Given the description of an element on the screen output the (x, y) to click on. 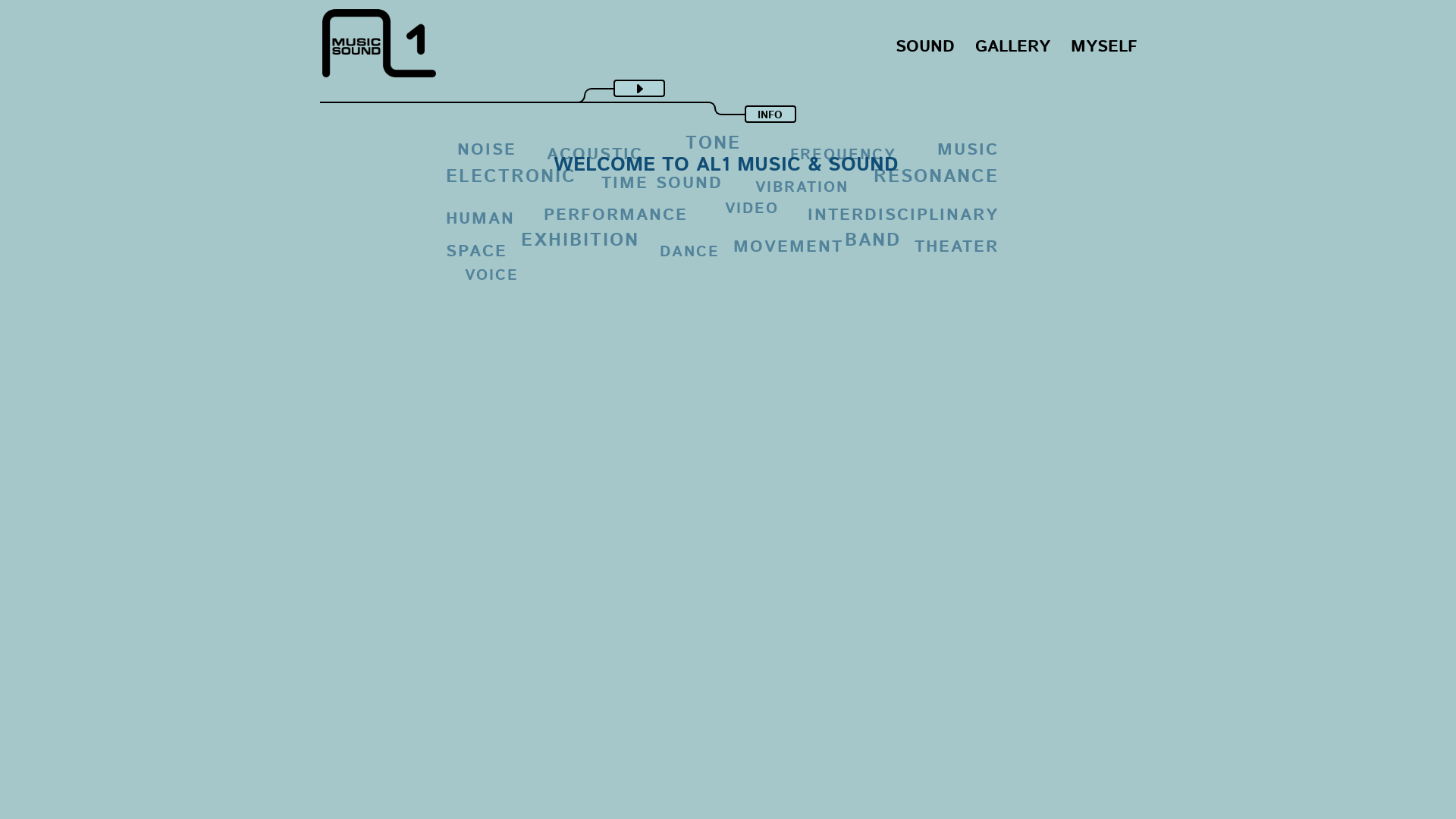
GALLERY Element type: text (1012, 46)
SOUND Element type: text (924, 46)
MYSELF Element type: text (1103, 46)
